Given the description of an element on the screen output the (x, y) to click on. 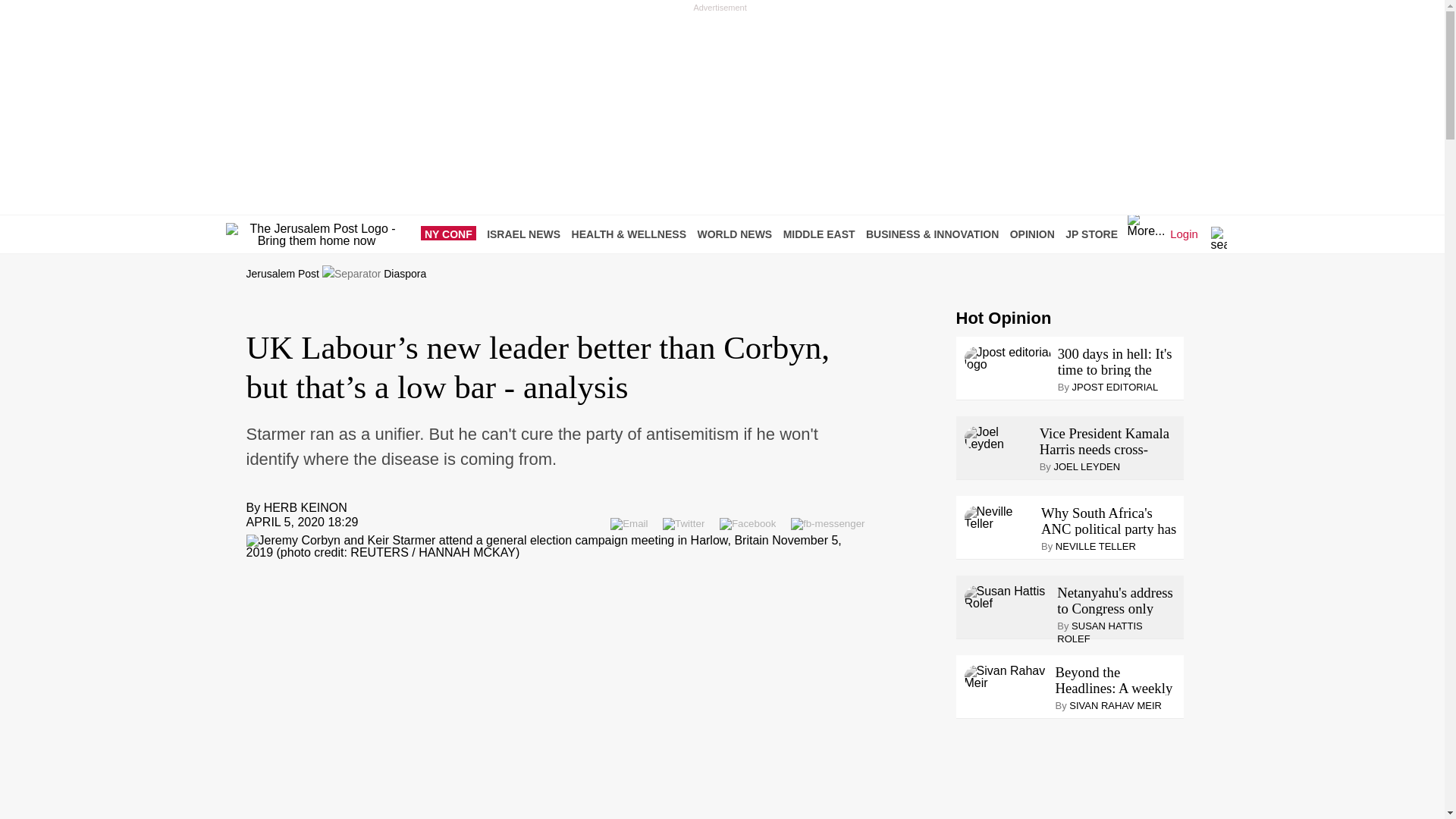
Jerusalem Post (282, 273)
Susan Hattis Rolef (1007, 597)
Hot Opinion (1003, 317)
ISRAEL NEWS (526, 234)
Neville Teller  (999, 517)
The Jerusalem Post Logo - Bring them home now (316, 234)
JPOST EDITORIAL (1114, 387)
300 days in hell: It's time to bring the hostages home (1117, 361)
JP STORE (1095, 234)
NY CONF (451, 234)
MIDDLE EAST (823, 234)
HERB KEINON (305, 507)
OPINION (1036, 234)
Joel Leyden (998, 437)
WORLD NEWS (737, 234)
